Given the description of an element on the screen output the (x, y) to click on. 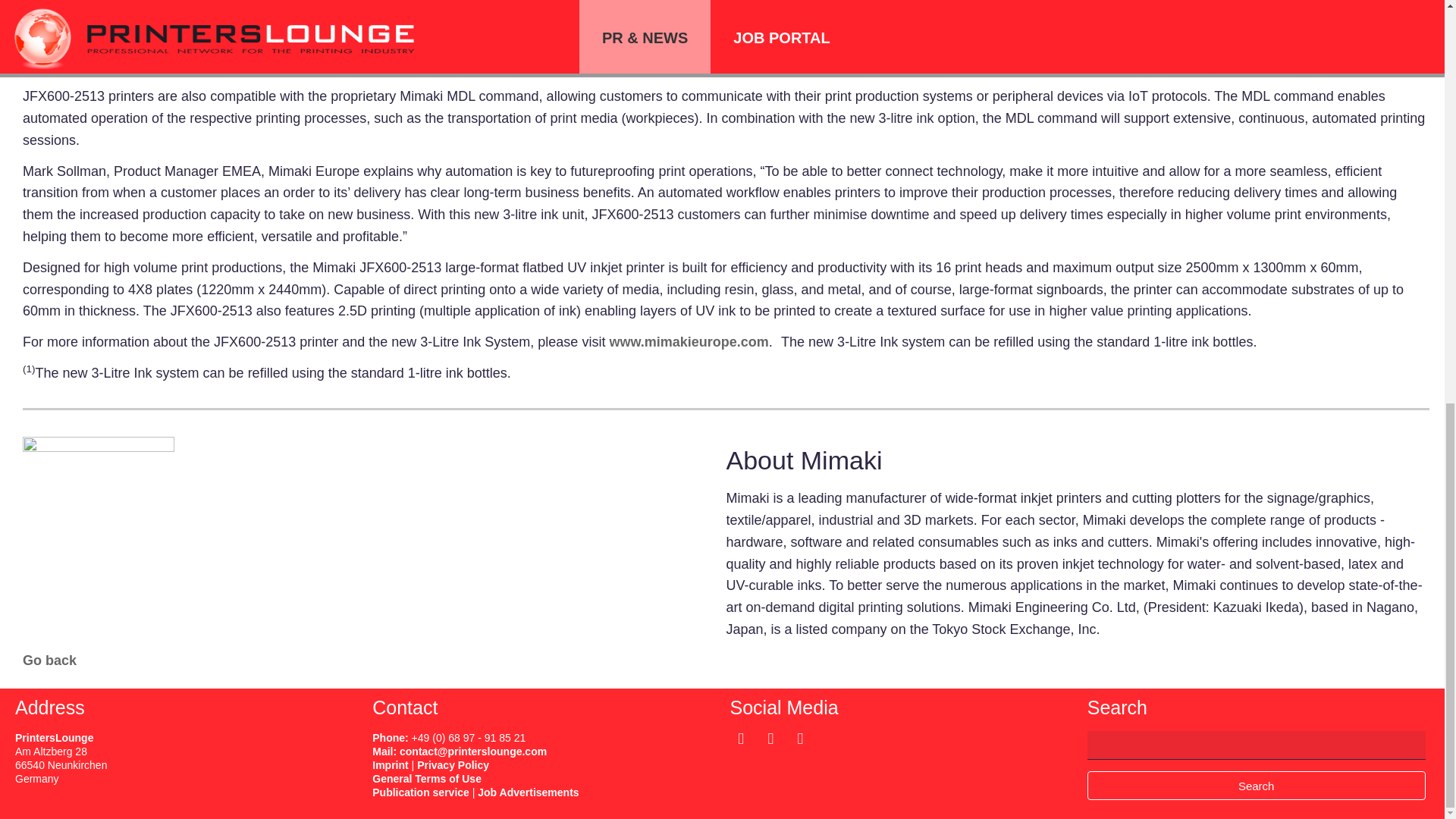
General Terms of Use (426, 778)
www.mimakieurope.com (688, 341)
Go back (50, 660)
Privacy Policy (452, 765)
Publication service (420, 792)
Job Advertisements (527, 792)
Your job advertisements on the PrintersLounge (527, 792)
Search (1256, 785)
